Given the description of an element on the screen output the (x, y) to click on. 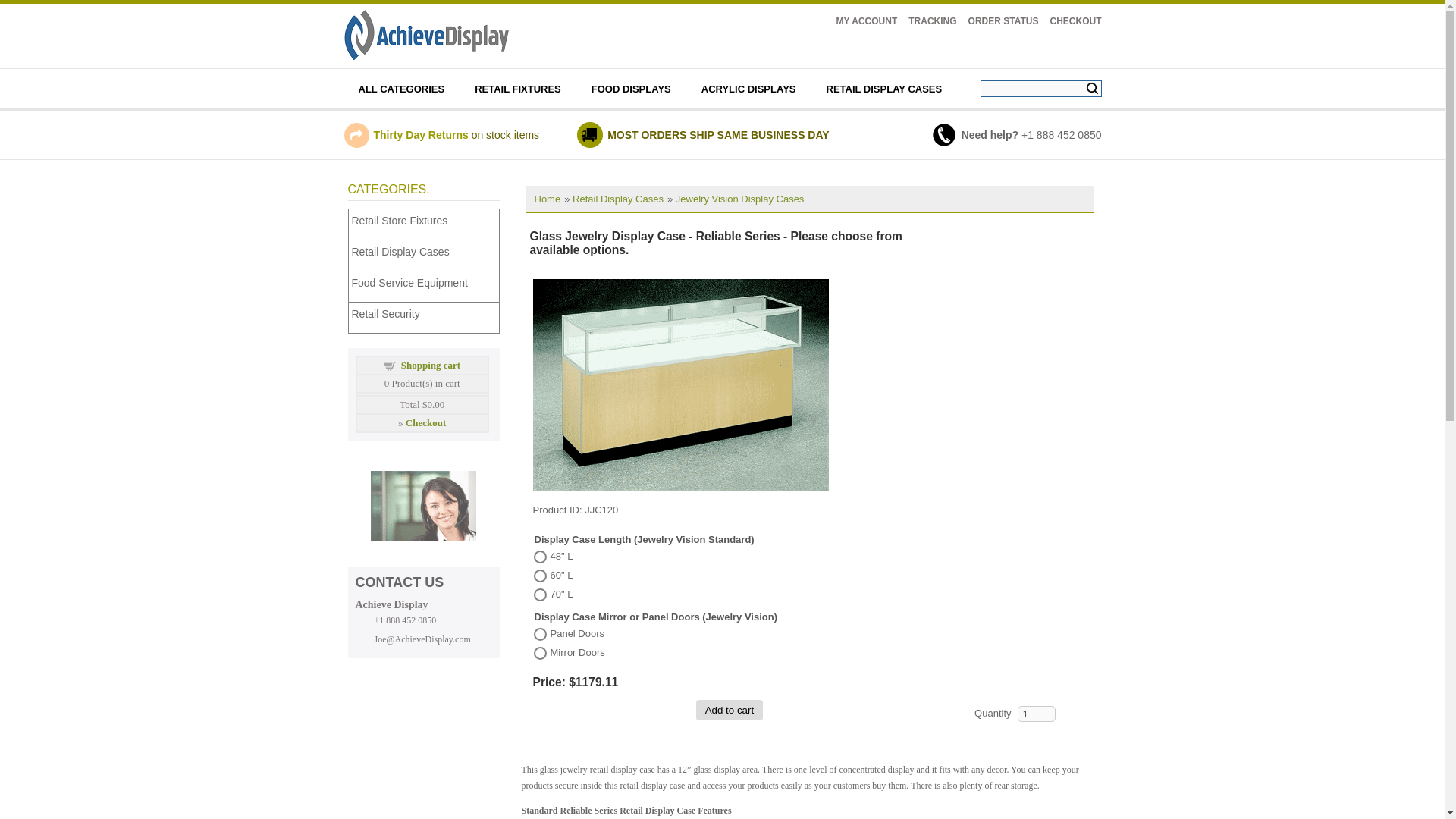
Retail Display Cases (617, 198)
2241 (540, 575)
Search (1092, 88)
MY ACCOUNT (866, 20)
Retail Security (427, 313)
Thirty Day Returns on stock items (455, 134)
Quantity (1036, 713)
Food Service Equipment (427, 282)
RETAIL DISPLAY CASES (884, 88)
Search (1092, 88)
